Given the description of an element on the screen output the (x, y) to click on. 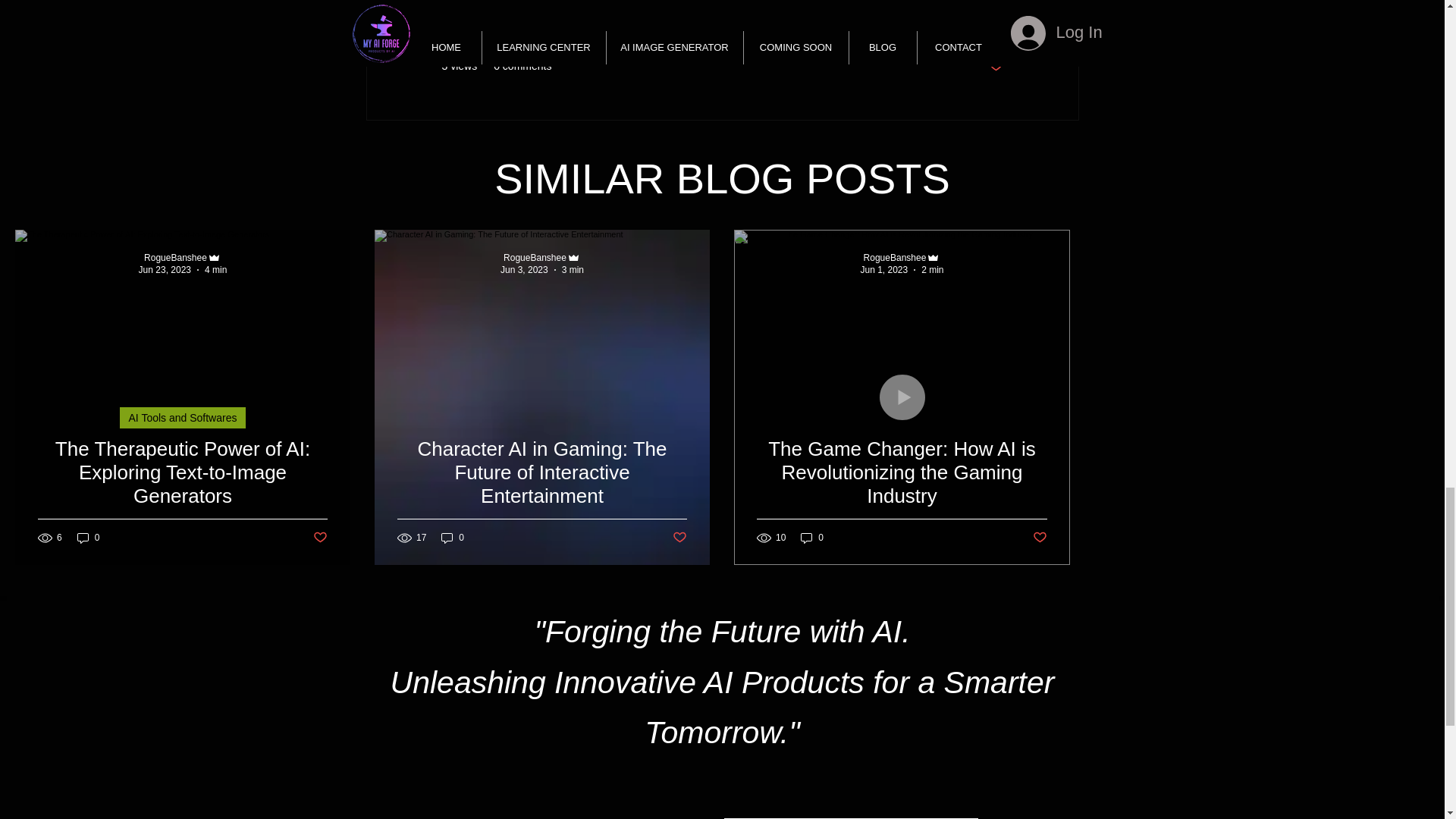
RogueBanshee (534, 257)
0 (88, 537)
4 min (216, 269)
Jun 1, 2023 (883, 269)
RogueBanshee (182, 257)
AI Tools and Softwares (182, 418)
RogueBanshee (894, 257)
RogueBanshee (175, 257)
2 min (932, 269)
